Given the description of an element on the screen output the (x, y) to click on. 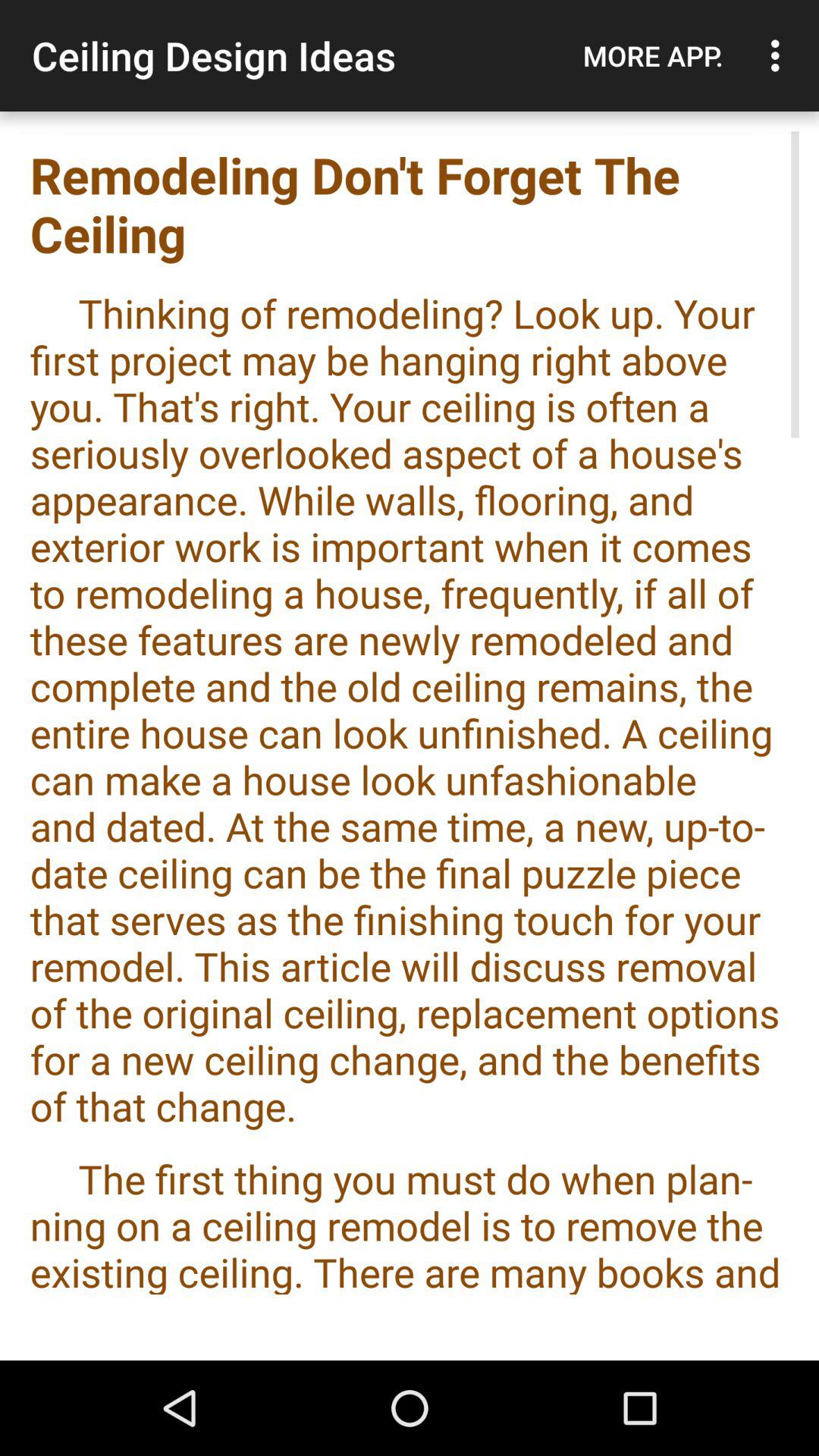
press the icon next to the ceiling design ideas item (653, 55)
